Given the description of an element on the screen output the (x, y) to click on. 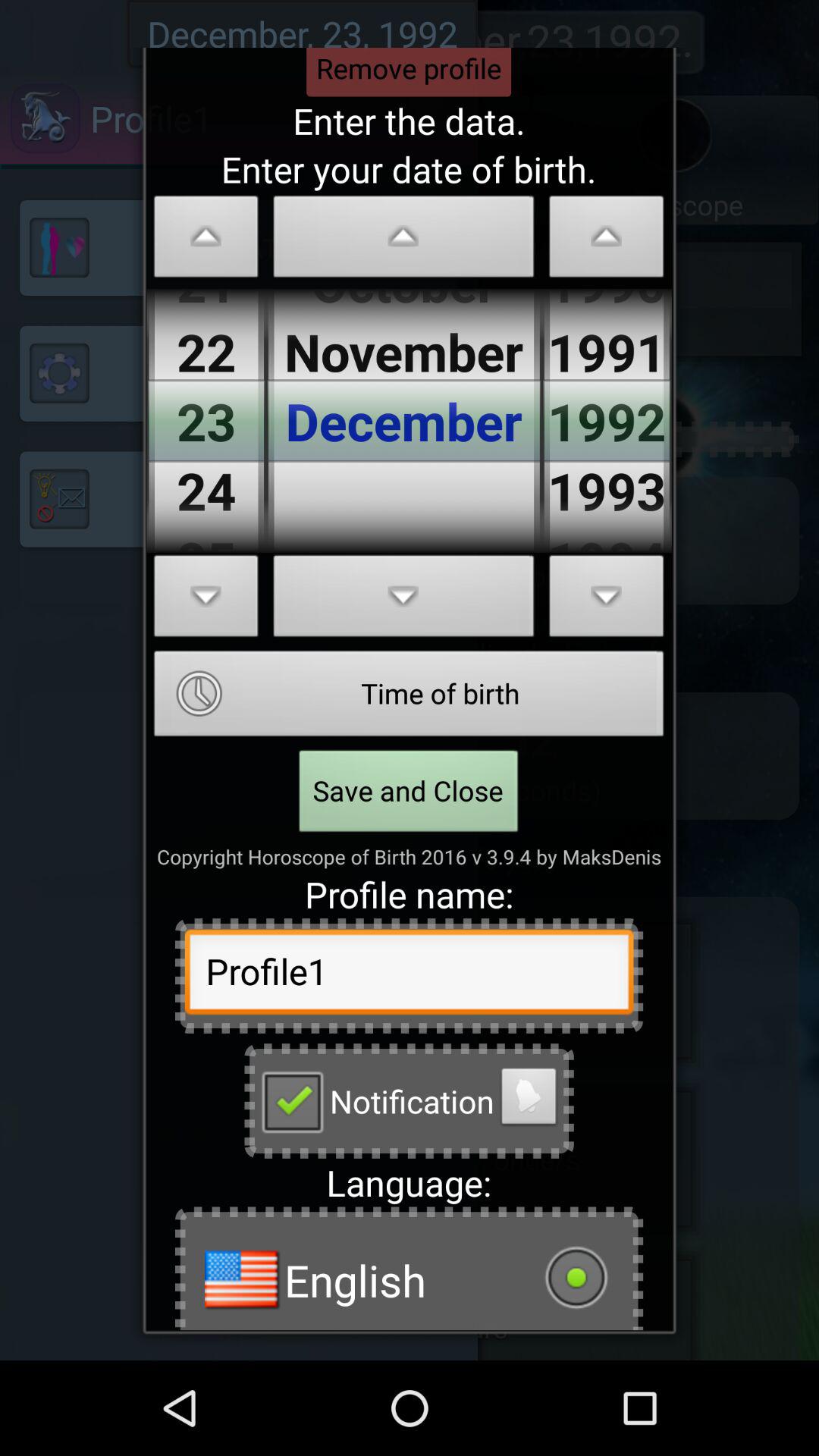
toggle day of the month (206, 240)
